Given the description of an element on the screen output the (x, y) to click on. 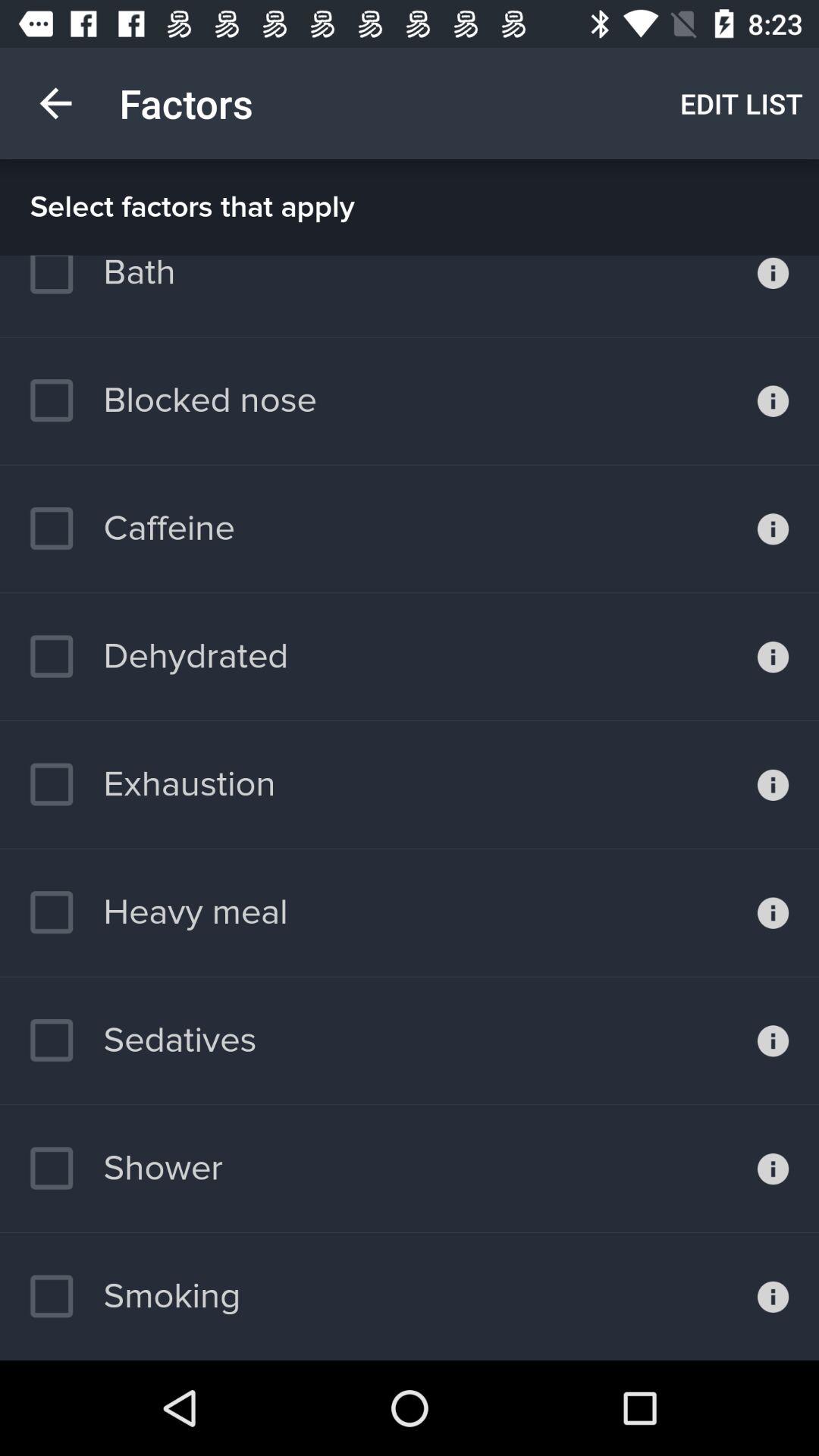
more info (773, 528)
